Given the description of an element on the screen output the (x, y) to click on. 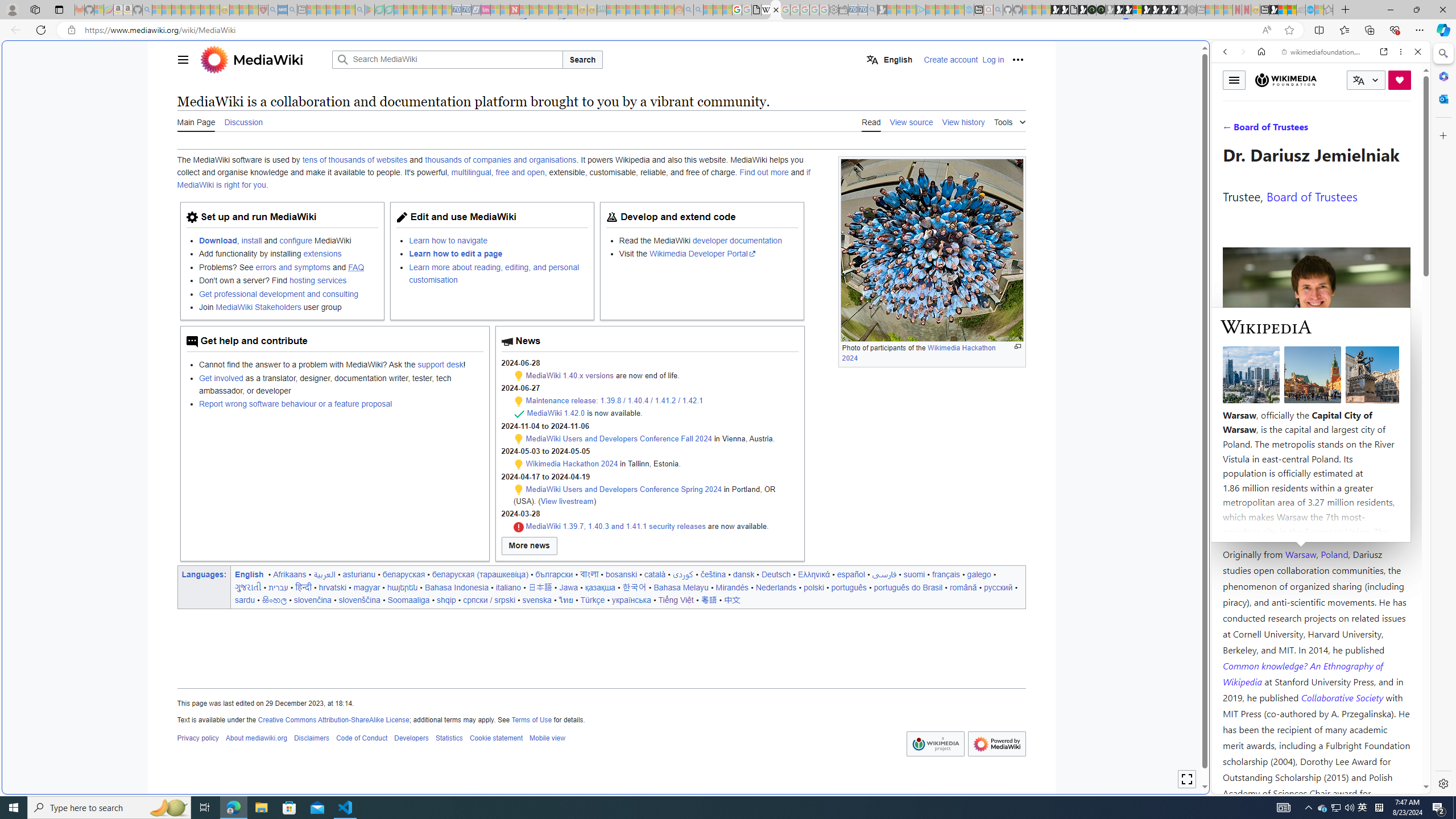
Cookie statement (495, 738)
Read (870, 120)
hrvatski (332, 587)
Wikimedia Foundation (1285, 79)
View history (963, 121)
Earth has six continents not seven, radical new study claims (1291, 9)
Close split screen (1208, 57)
Learn how to navigate (448, 239)
configure (296, 239)
extensions (322, 253)
tens of thousands of websites (354, 159)
